Given the description of an element on the screen output the (x, y) to click on. 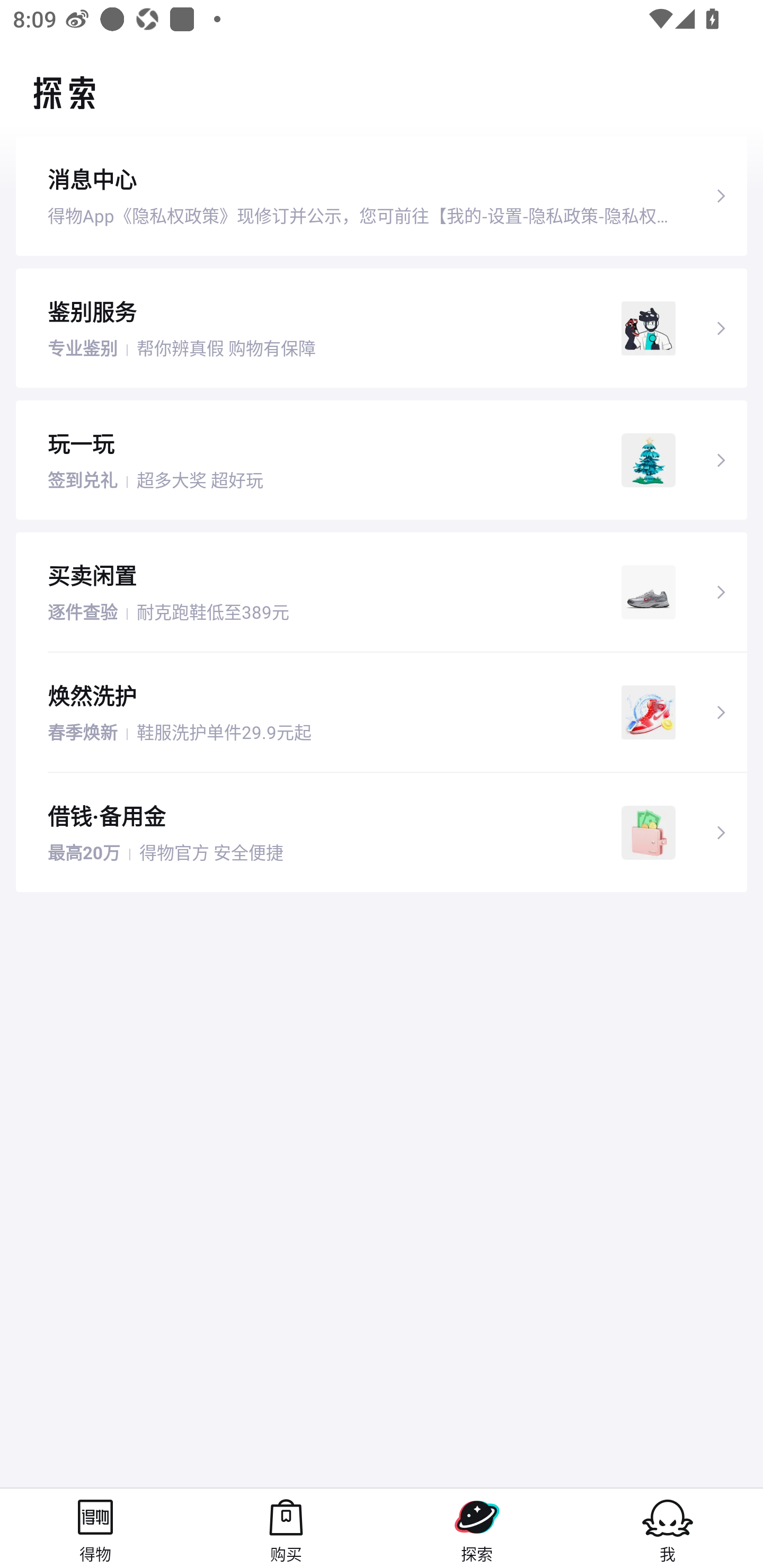
鉴别服务 专业鉴别 丨 帮你辨真假 购物有保障 (381, 327)
玩一玩 签到兑礼 丨 超多大奖 超好玩 (381, 459)
买卖闲置 逐件查验 丨 耐克跑鞋低至389元 (381, 592)
焕然洗护 春季焕新 丨 鞋服洗护单件29.9元起 (381, 711)
借钱·备用金 最高20万 丨 得物官方 安全便捷 (381, 832)
得物 (95, 1528)
购买 (285, 1528)
探索 (476, 1528)
我 (667, 1528)
